Given the description of an element on the screen output the (x, y) to click on. 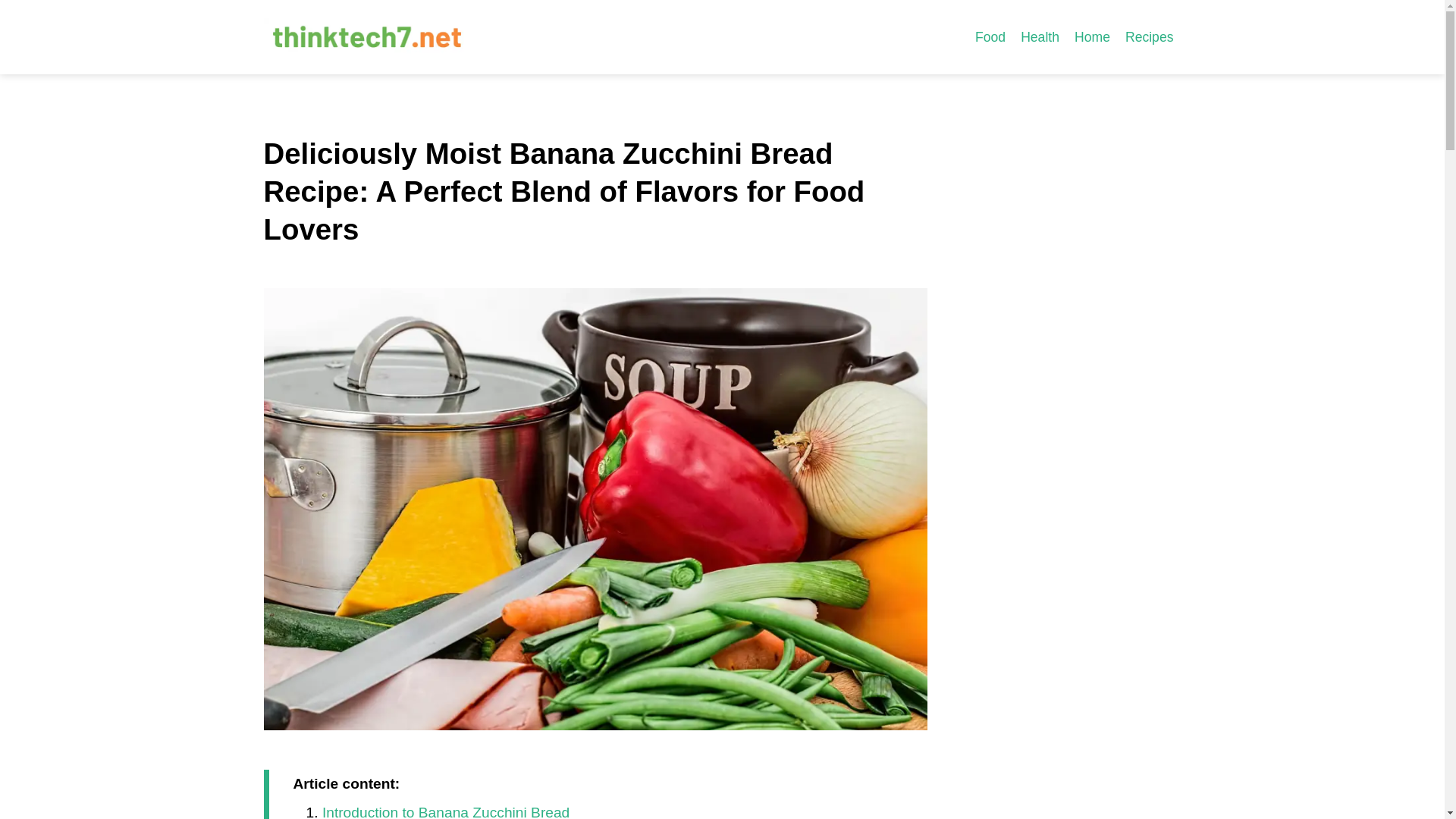
Recipes (1149, 36)
Food (990, 36)
Introduction to Banana Zucchini Bread (445, 811)
Health (1040, 36)
Home (1092, 36)
